Given the description of an element on the screen output the (x, y) to click on. 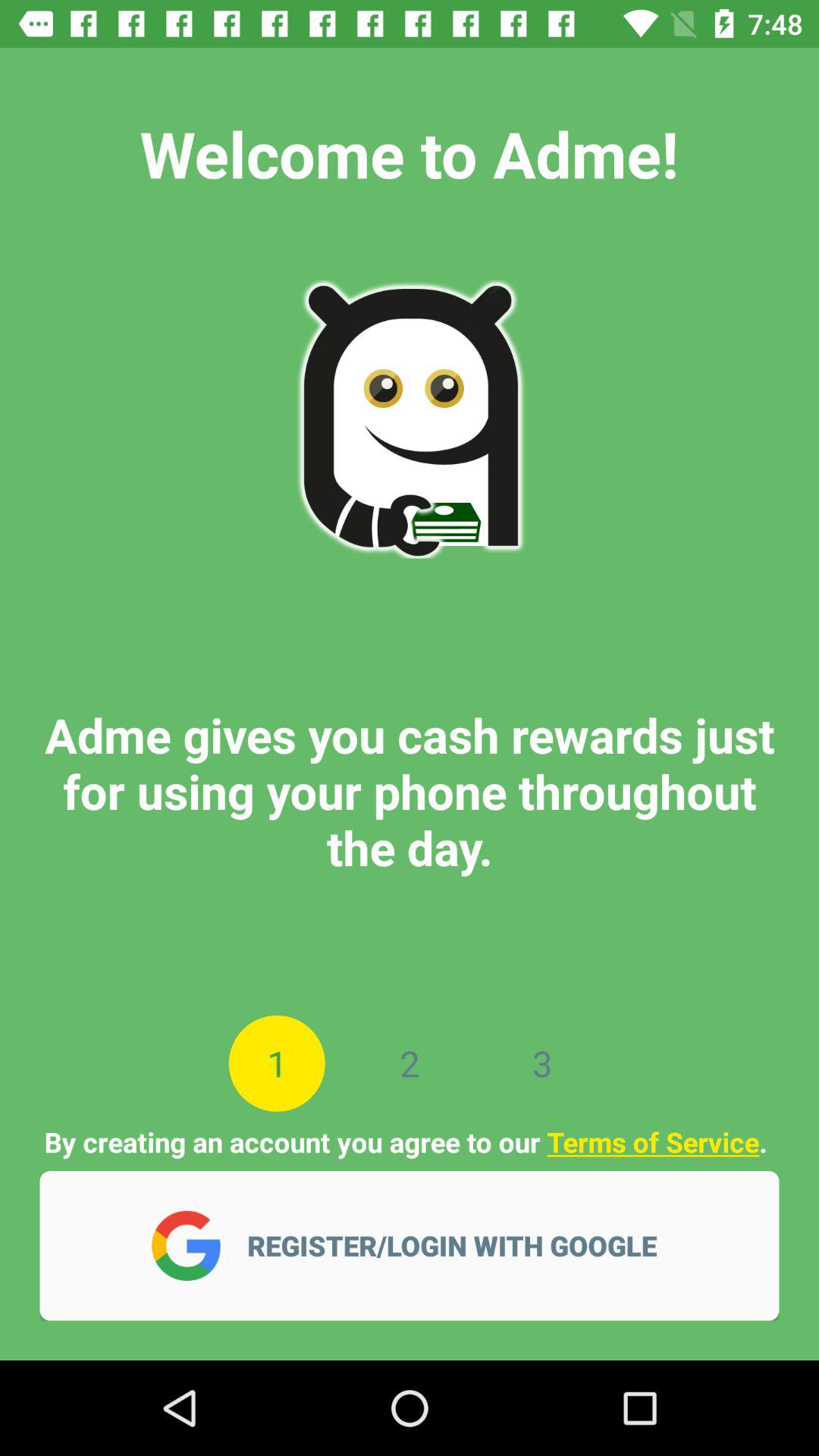
open the by creating an item (409, 1141)
